Given the description of an element on the screen output the (x, y) to click on. 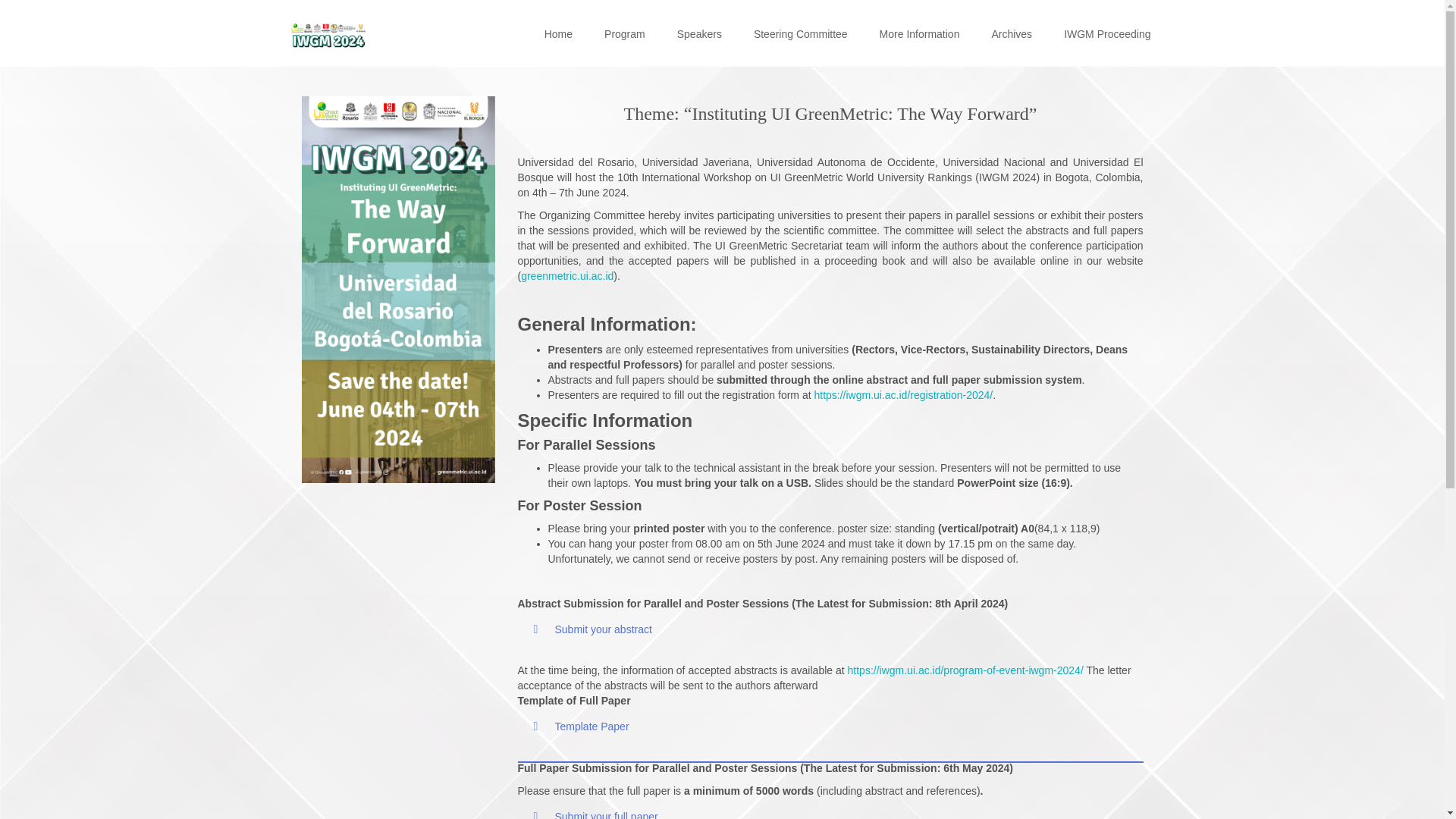
More Information (919, 33)
Archives (1010, 33)
Steering Committee (800, 33)
Speakers (699, 33)
Program (625, 33)
Home (558, 33)
Submit your abstract (591, 629)
Template Paper 2024 (580, 726)
